Given the description of an element on the screen output the (x, y) to click on. 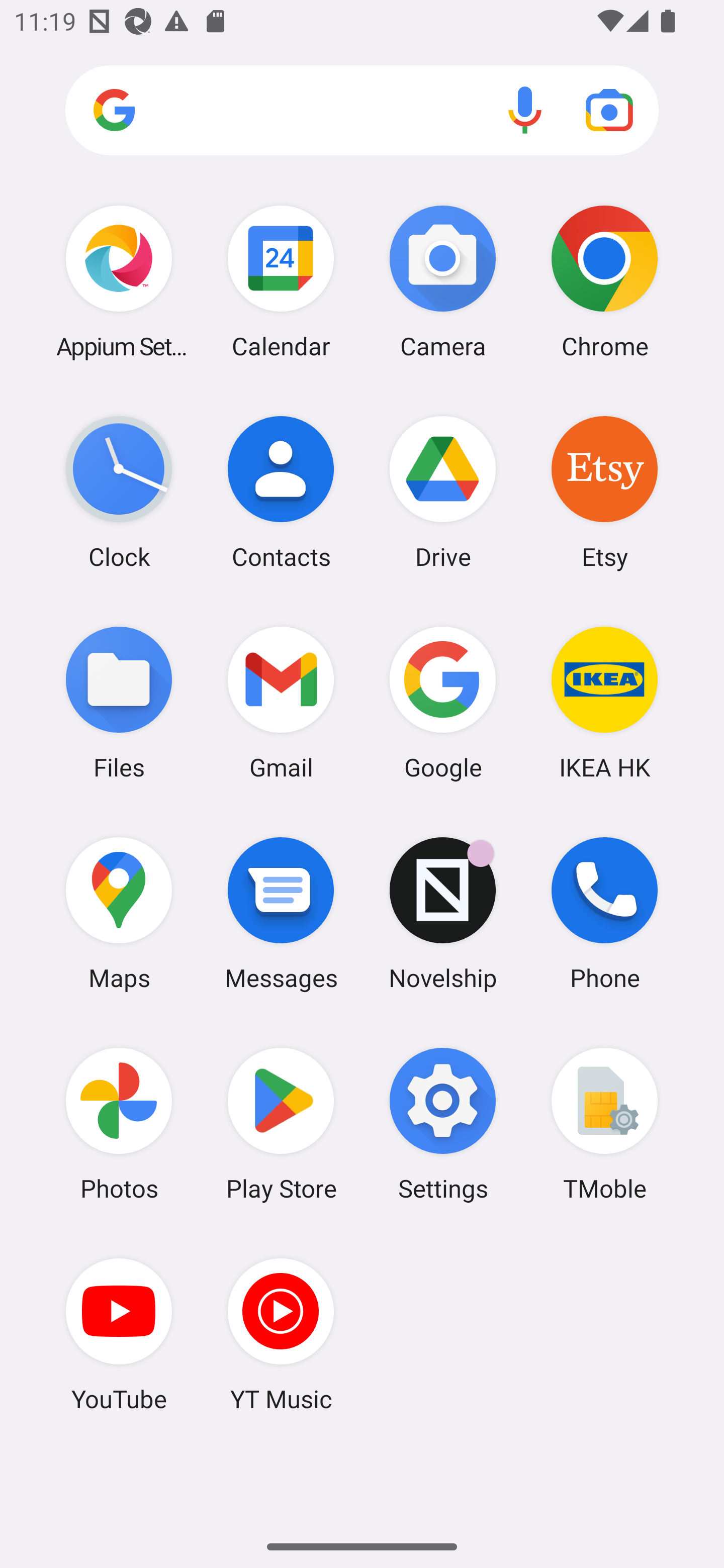
Search apps, web and more (361, 110)
Voice search (524, 109)
Google Lens (608, 109)
Appium Settings (118, 281)
Calendar (280, 281)
Camera (443, 281)
Chrome (604, 281)
Clock (118, 492)
Contacts (280, 492)
Drive (443, 492)
Etsy (604, 492)
Files (118, 702)
Gmail (280, 702)
Google (443, 702)
IKEA HK (604, 702)
Maps (118, 913)
Messages (280, 913)
Novelship Novelship has 2 notifications (443, 913)
Phone (604, 913)
Photos (118, 1124)
Play Store (280, 1124)
Settings (443, 1124)
TMoble (604, 1124)
YouTube (118, 1334)
YT Music (280, 1334)
